Given the description of an element on the screen output the (x, y) to click on. 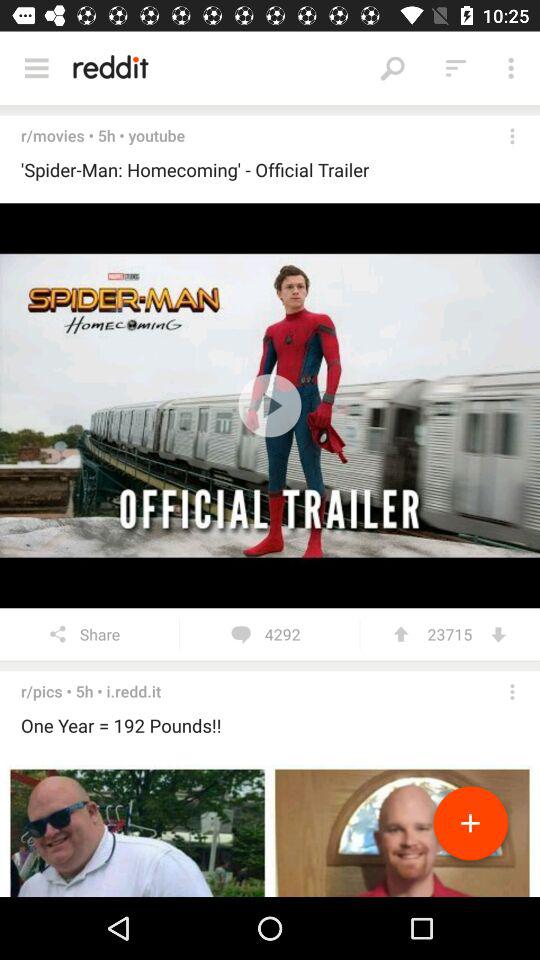
open menu settings (512, 136)
